Given the description of an element on the screen output the (x, y) to click on. 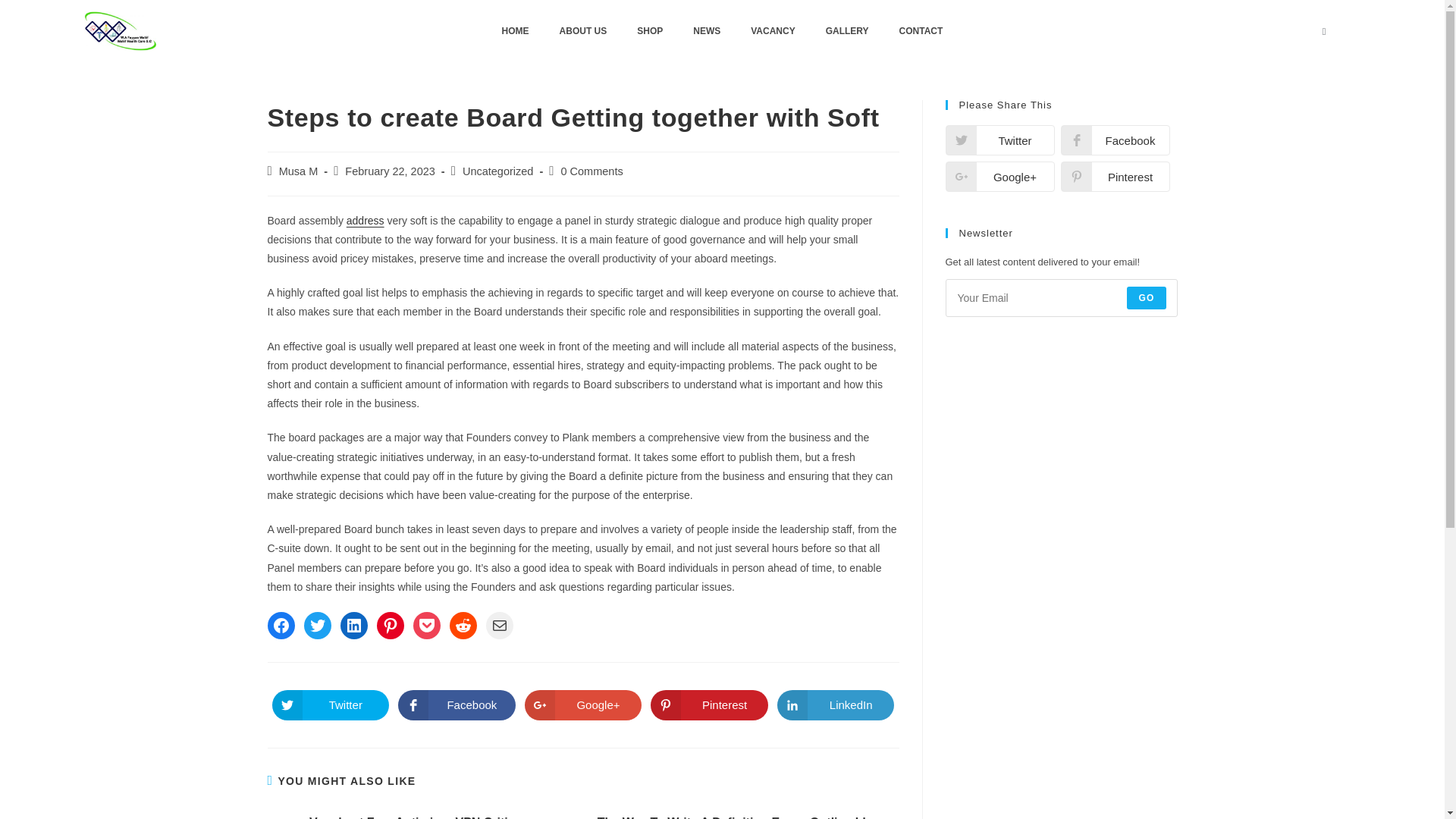
0 Comments (591, 171)
Uncategorized (498, 171)
VACANCY (772, 30)
CONTACT (920, 30)
NEWS (706, 30)
HOME (515, 30)
Facebook (456, 705)
Share on Facebook (1114, 140)
Twitter (999, 140)
